Given the description of an element on the screen output the (x, y) to click on. 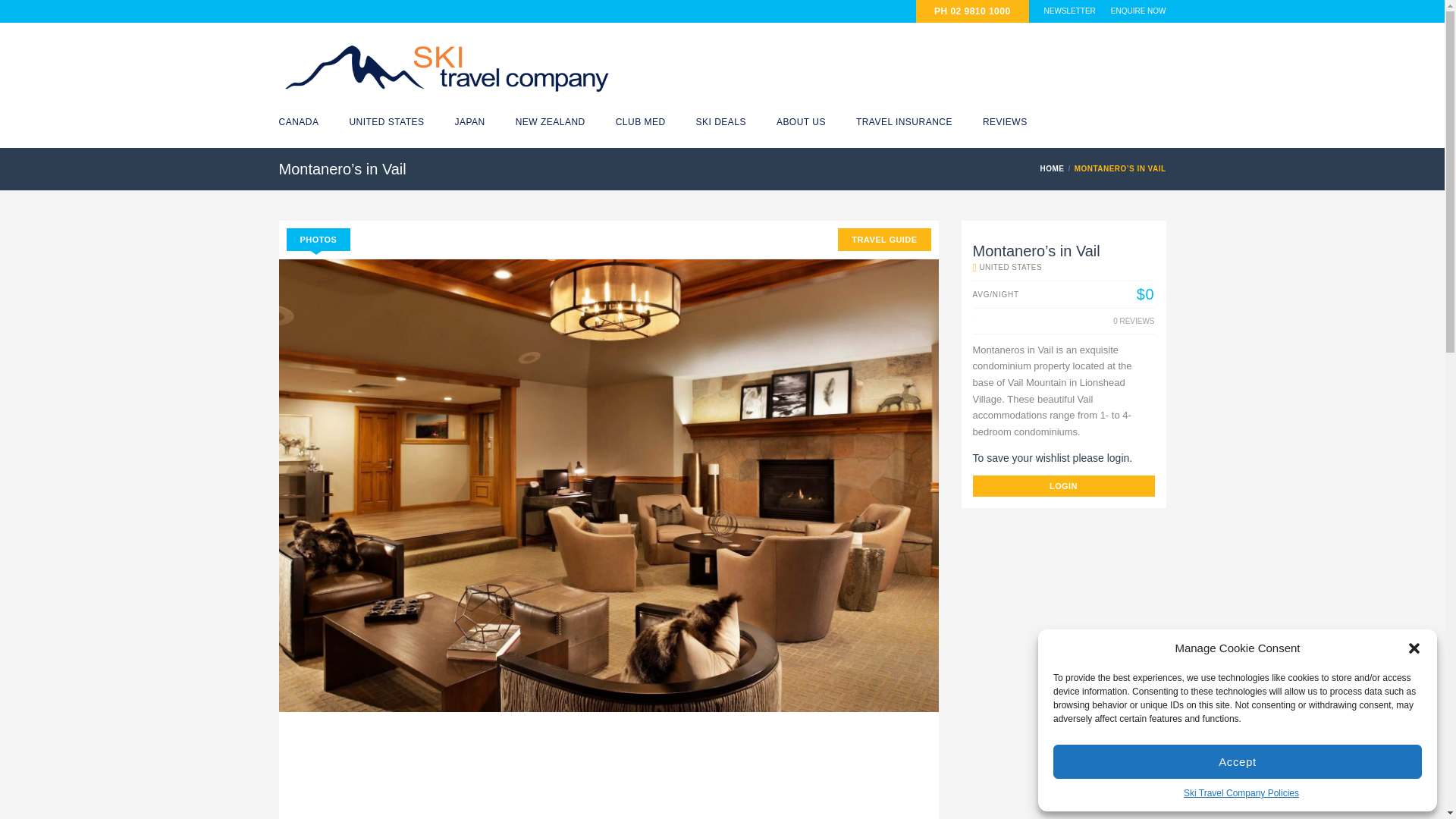
Accept (1237, 761)
PH 02 9810 1000 (972, 11)
ENQUIRE NOW (1138, 11)
Ski Travel Company Policies (1240, 793)
Ski USA (386, 122)
UNITED STATES (386, 122)
NEWSLETTER (1069, 11)
